Given the description of an element on the screen output the (x, y) to click on. 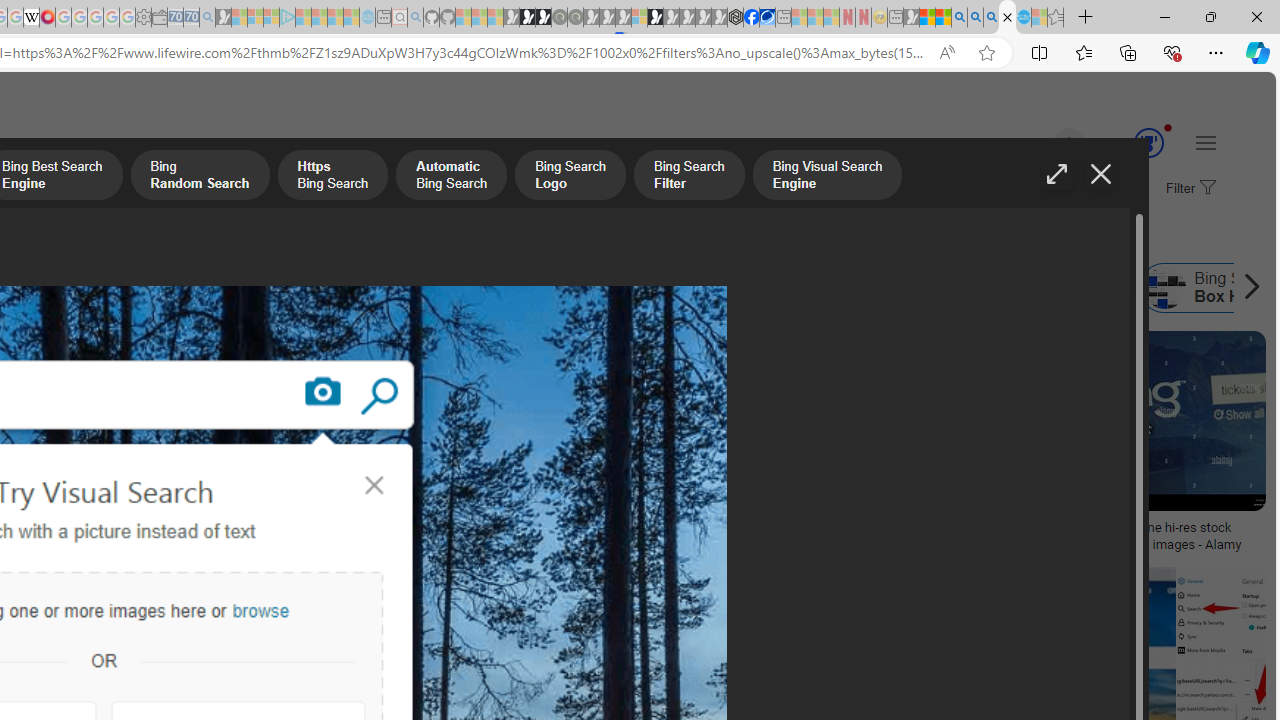
MSN - Sleeping (911, 17)
Settings and quick links (1205, 142)
Animation (1167, 127)
Scroll right (1246, 287)
